Given the description of an element on the screen output the (x, y) to click on. 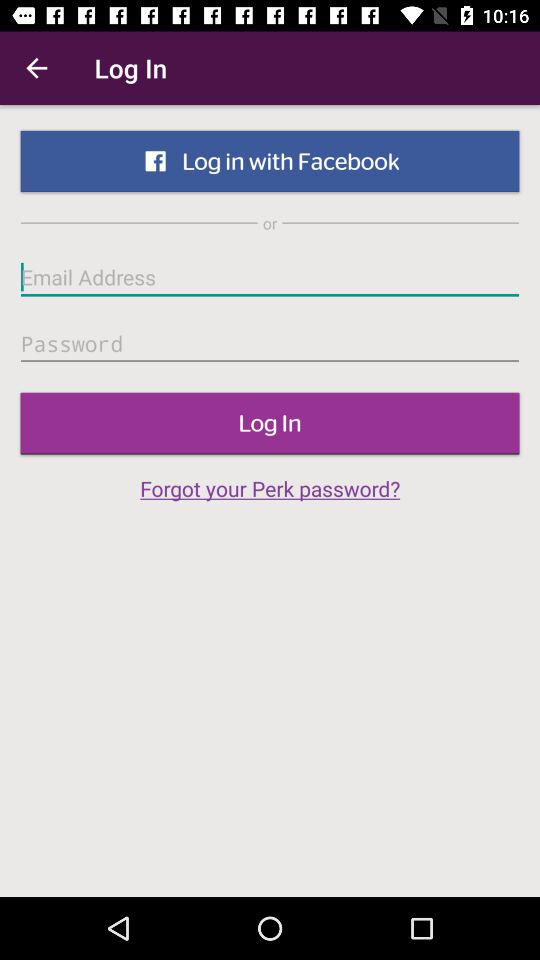
launch forgot your perk (270, 488)
